Given the description of an element on the screen output the (x, y) to click on. 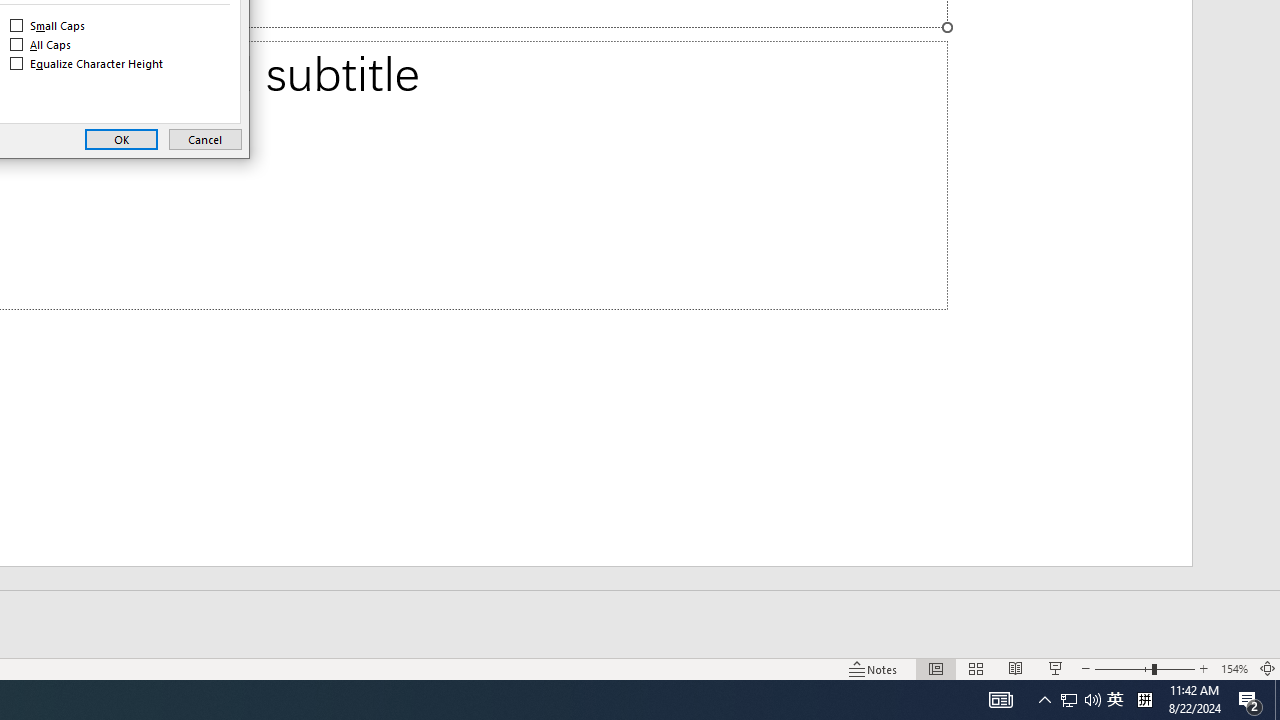
User Promoted Notification Area (1080, 699)
Tray Input Indicator - Chinese (Simplified, China) (1144, 699)
OK (121, 139)
Cancel (1069, 699)
Show desktop (205, 139)
